Given the description of an element on the screen output the (x, y) to click on. 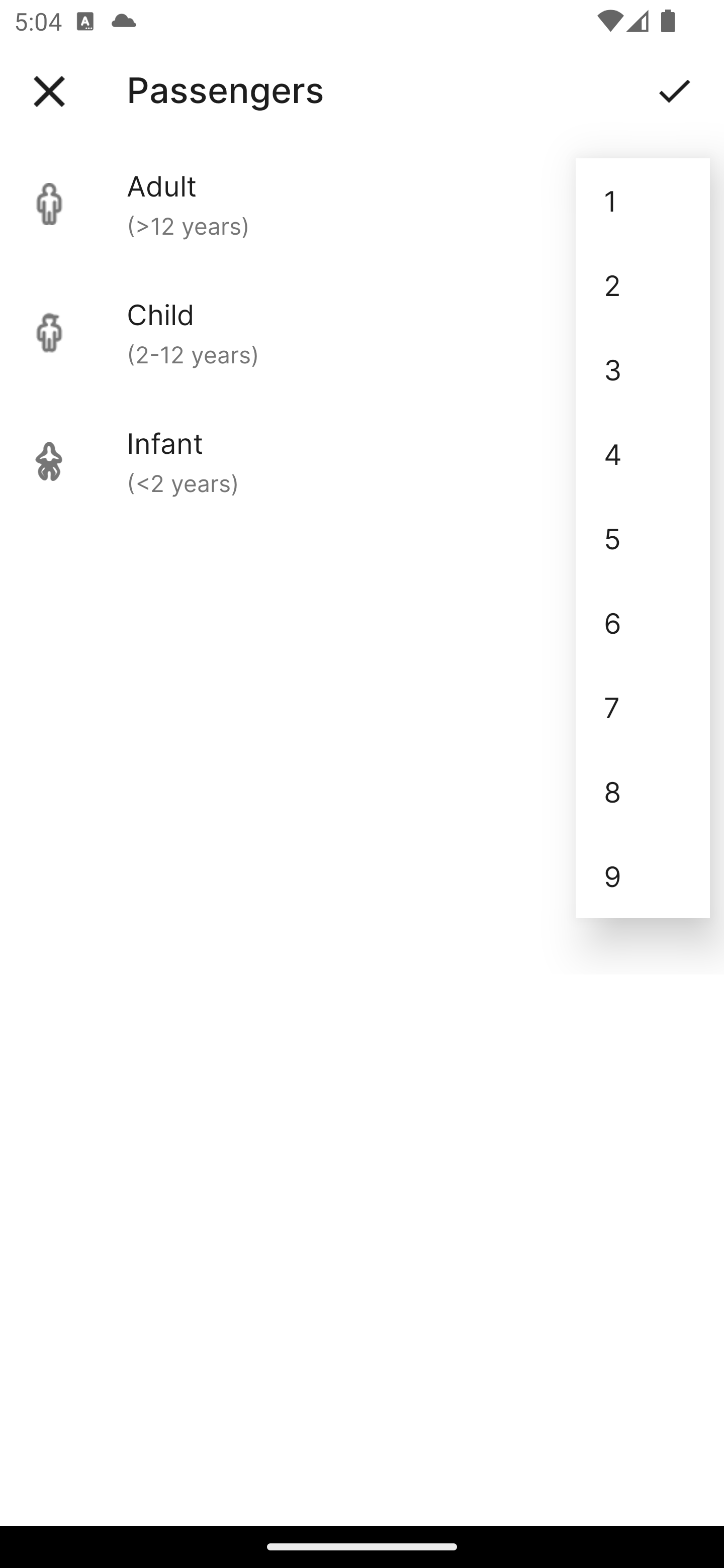
1 (642, 200)
2 (642, 285)
3 (642, 368)
4 (642, 452)
5 (642, 537)
6 (642, 622)
7 (642, 706)
8 (642, 791)
9 (642, 876)
